Given the description of an element on the screen output the (x, y) to click on. 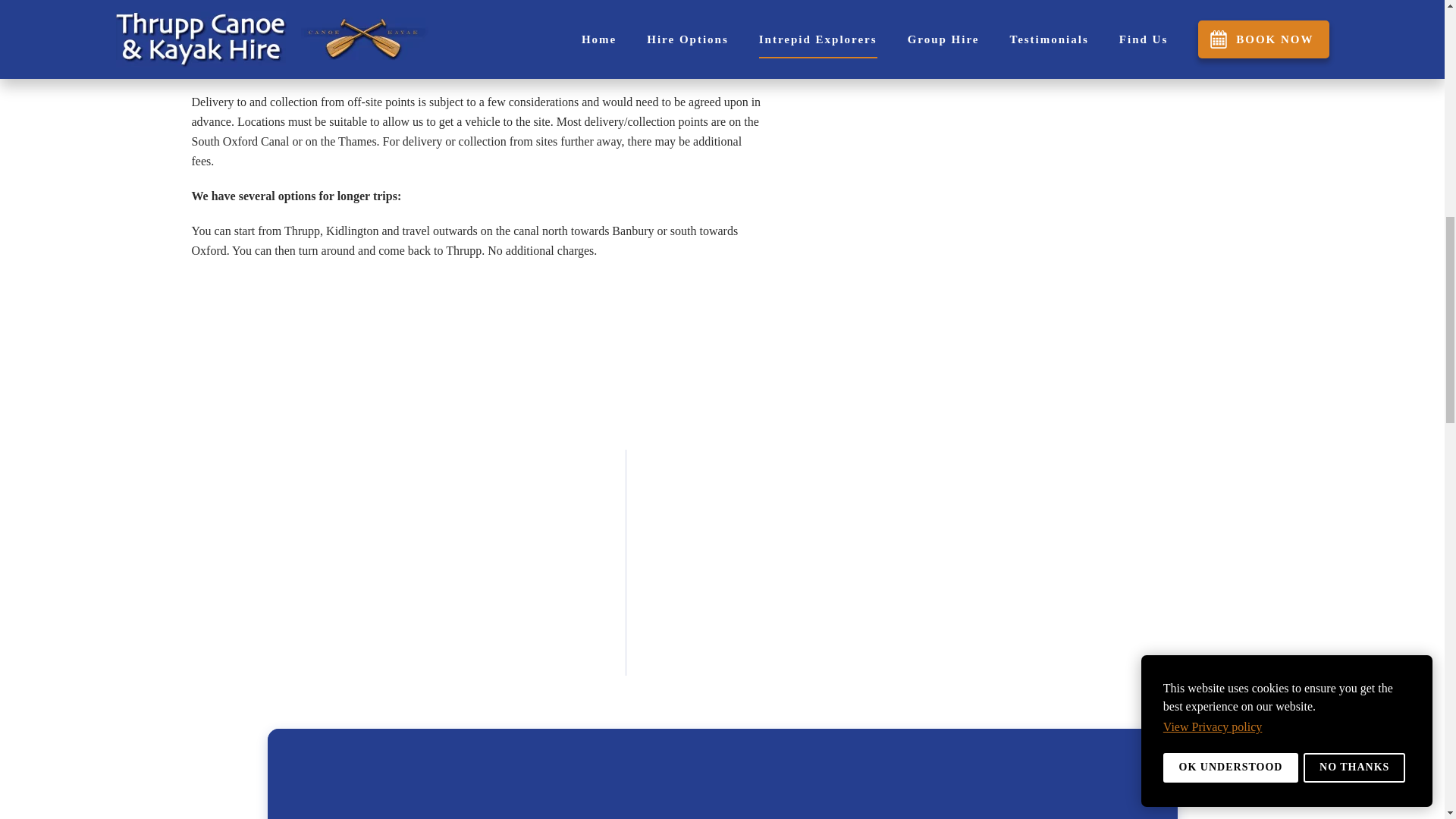
FareHarbor (1342, 64)
